Given the description of an element on the screen output the (x, y) to click on. 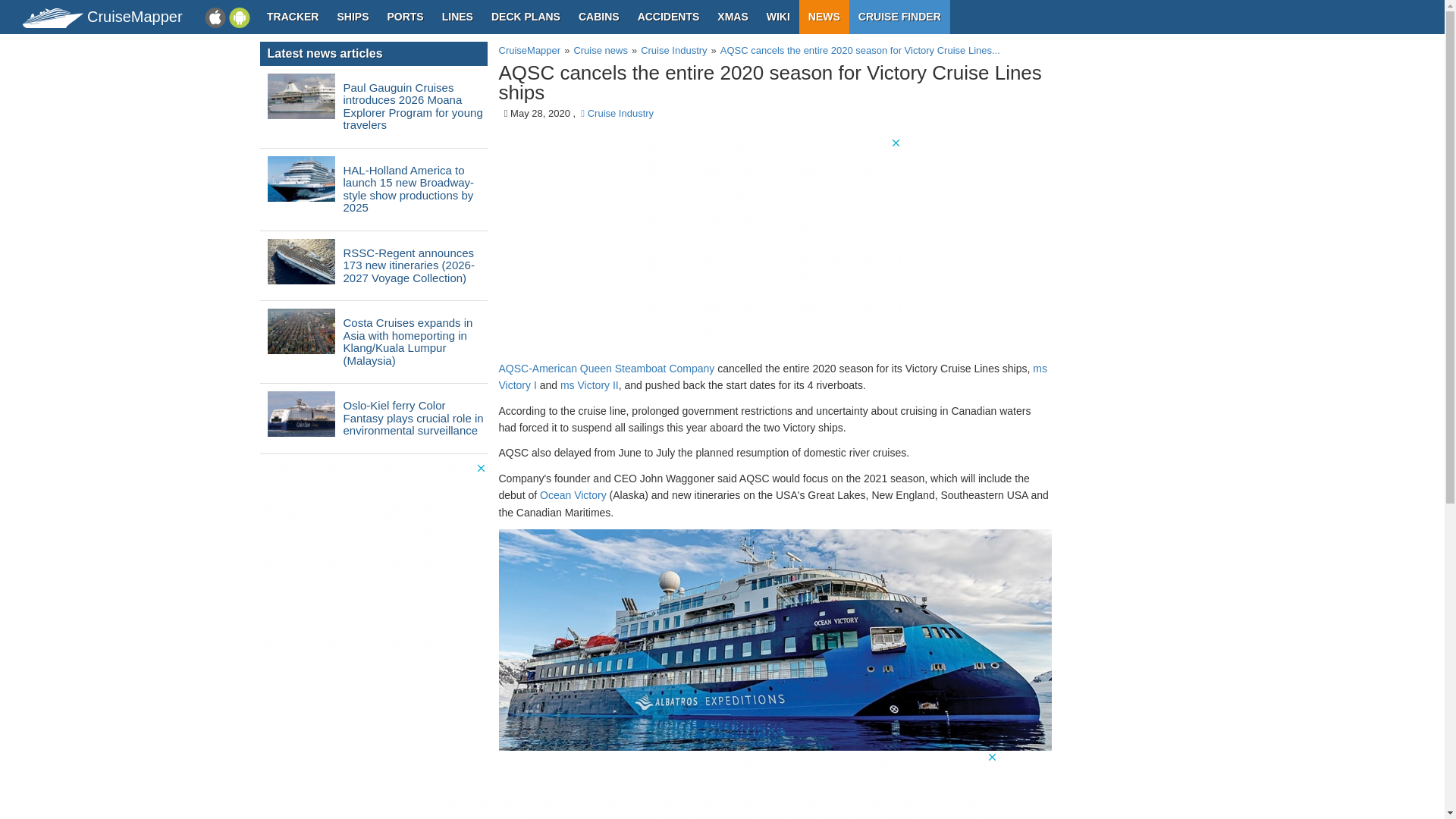
CruiseMapper (529, 50)
CruiseMapper (52, 17)
NEWS (823, 17)
CruiseMapper Mobile apps (227, 17)
LINES (456, 17)
ms Victory II (589, 385)
ms Victory I (772, 376)
PORTS (404, 17)
CABINS (598, 17)
Cruise Industry (616, 112)
ACCIDENTS (668, 17)
